Given the description of an element on the screen output the (x, y) to click on. 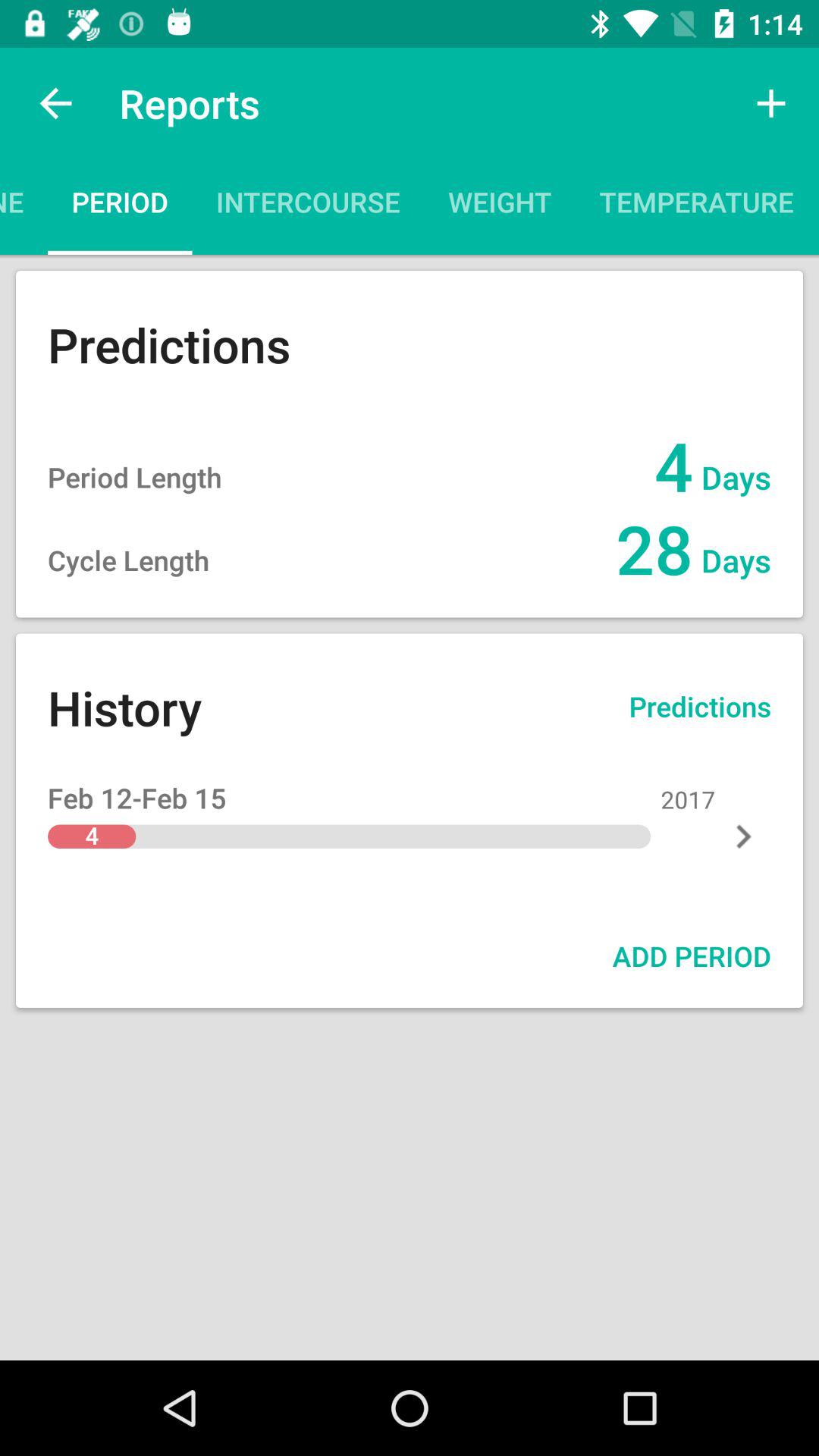
turn off icon next to the reports app (55, 103)
